Given the description of an element on the screen output the (x, y) to click on. 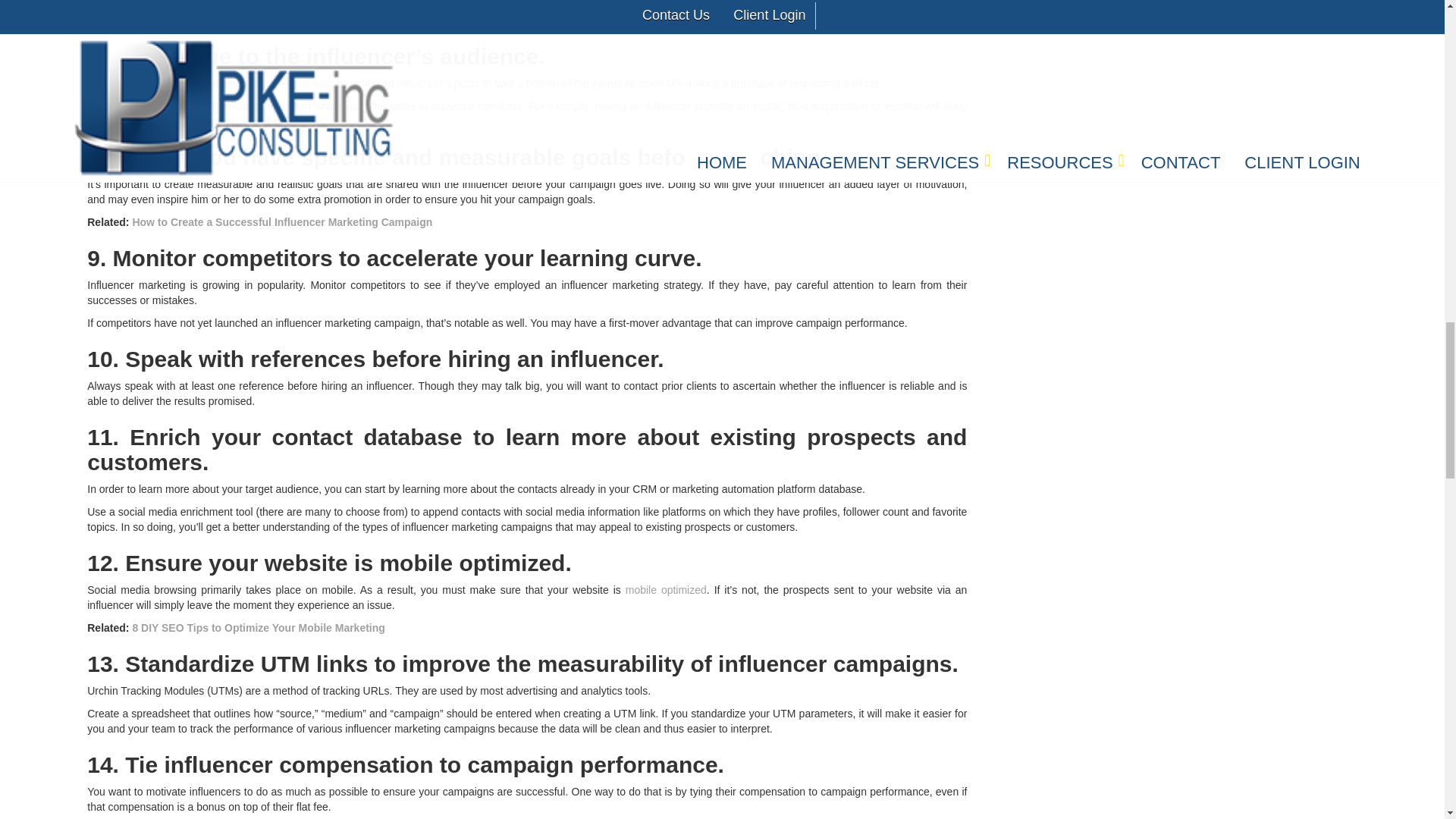
How to Create a Successful Influencer Marketing Campaign (282, 222)
8 DIY SEO Tips to Optimize Your Mobile Marketing (258, 627)
mobile optimized (666, 589)
social media (281, 82)
